Given the description of an element on the screen output the (x, y) to click on. 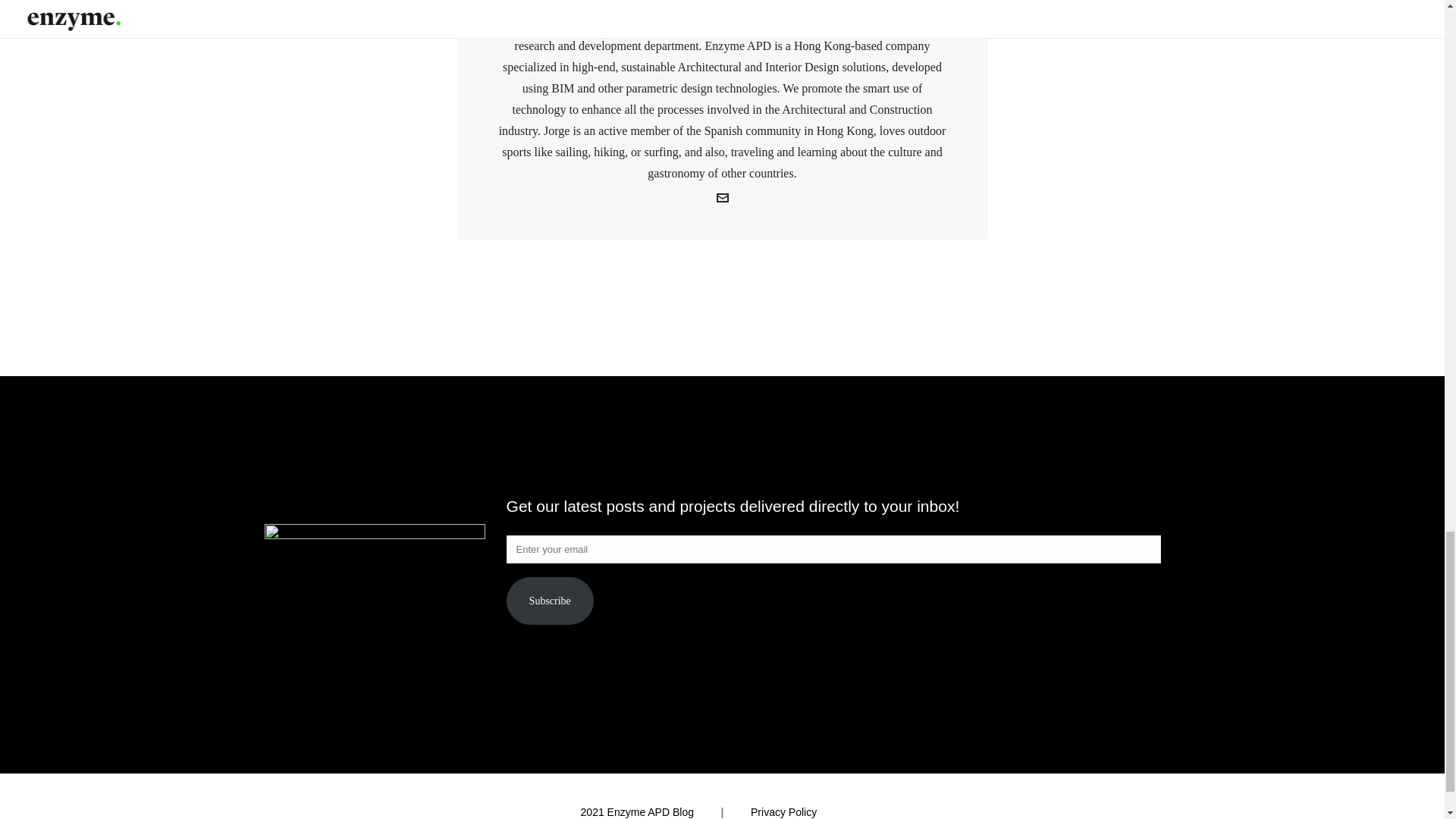
Get in touch with me via email (722, 200)
Subscribe (550, 600)
Enter your email (833, 549)
Privacy Policy (783, 811)
